Given the description of an element on the screen output the (x, y) to click on. 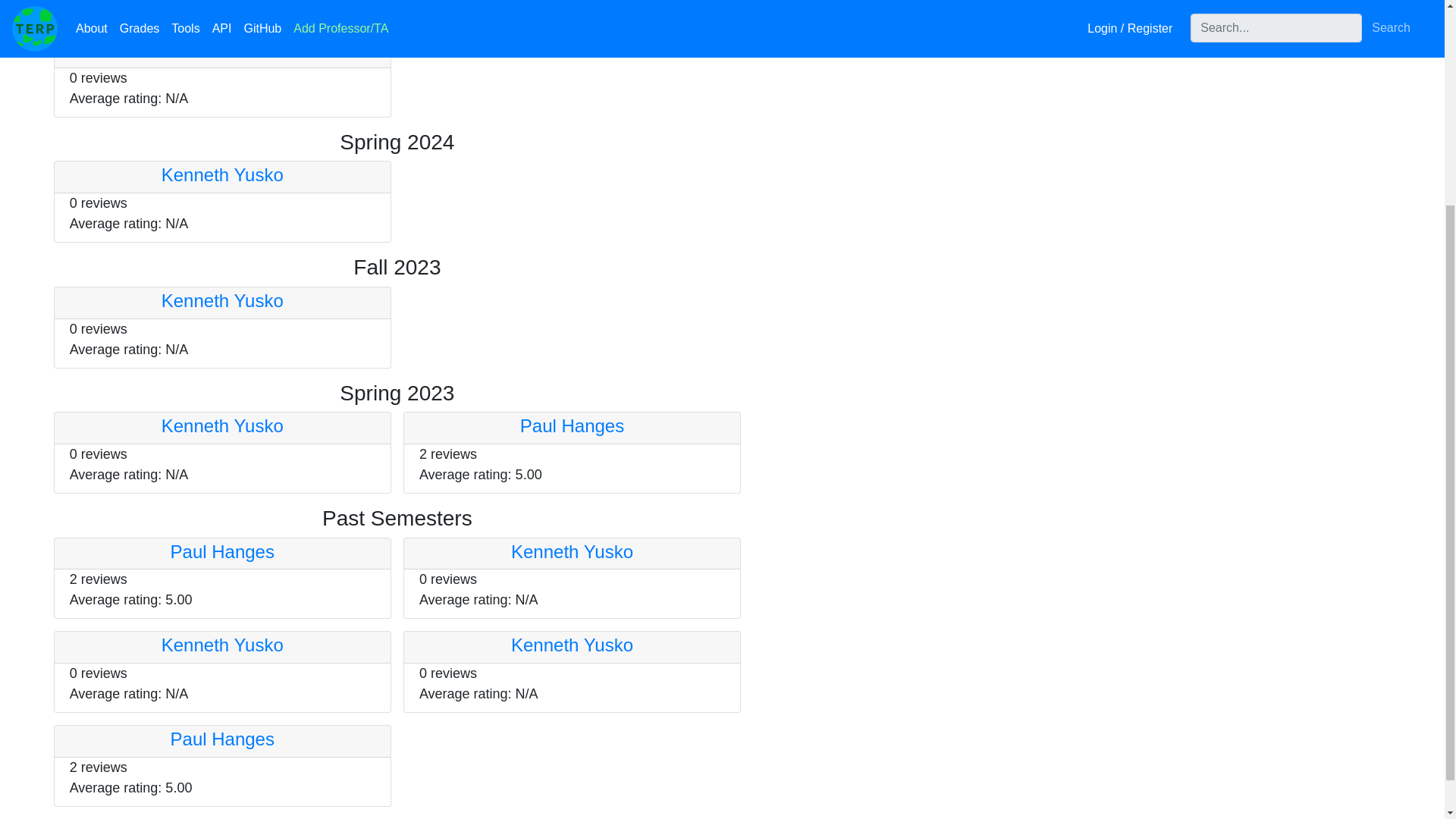
Paul Hanges (222, 738)
Kenneth Yusko (222, 425)
Kenneth Yusko (572, 644)
Kenneth Yusko (222, 300)
Kenneth Yusko (572, 551)
Kenneth Yusko (222, 174)
Paul Hanges (571, 425)
Kenneth Yusko (222, 49)
Kenneth Yusko (222, 644)
Paul Hanges (222, 551)
